Given the description of an element on the screen output the (x, y) to click on. 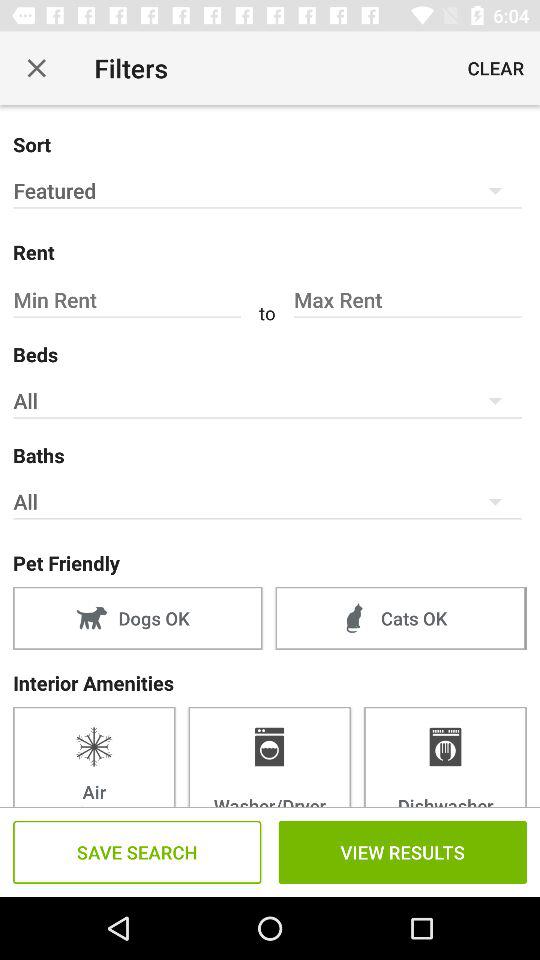
swipe until washer/dryer item (269, 756)
